Given the description of an element on the screen output the (x, y) to click on. 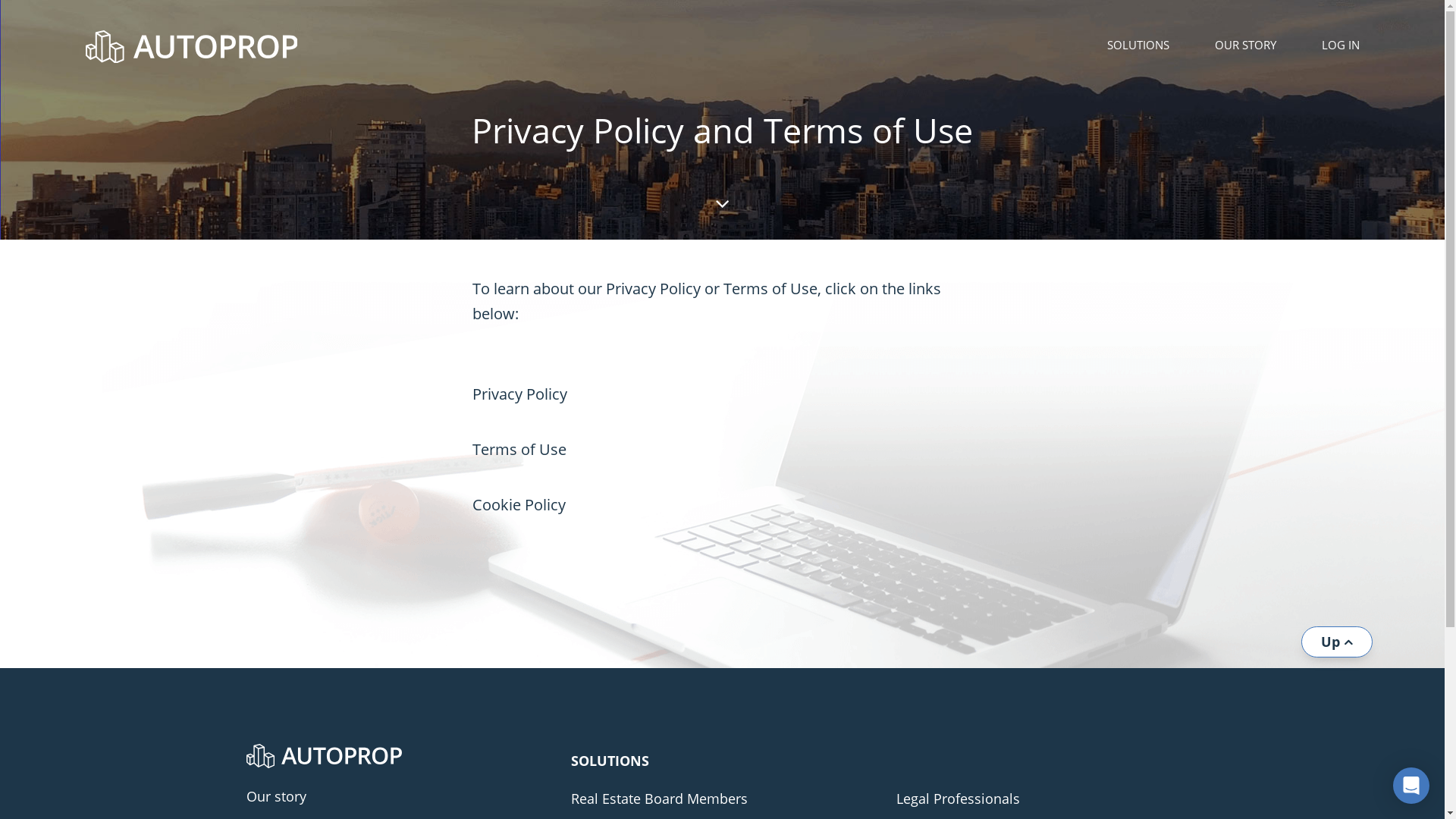
Our story Element type: text (396, 796)
Real Estate Board Members Element type: text (722, 799)
Logo Element type: hover (323, 755)
LOG IN Element type: text (1339, 44)
OUR STORY Element type: text (1245, 44)
SOLUTIONS Element type: text (1138, 44)
Privacy Policy Element type: text (518, 393)
Up Element type: text (1336, 641)
Legal Professionals Element type: text (1047, 799)
Cookie Policy Element type: text (517, 504)
Homepage Element type: hover (235, 46)
Terms of Use Element type: text (518, 449)
